Given the description of an element on the screen output the (x, y) to click on. 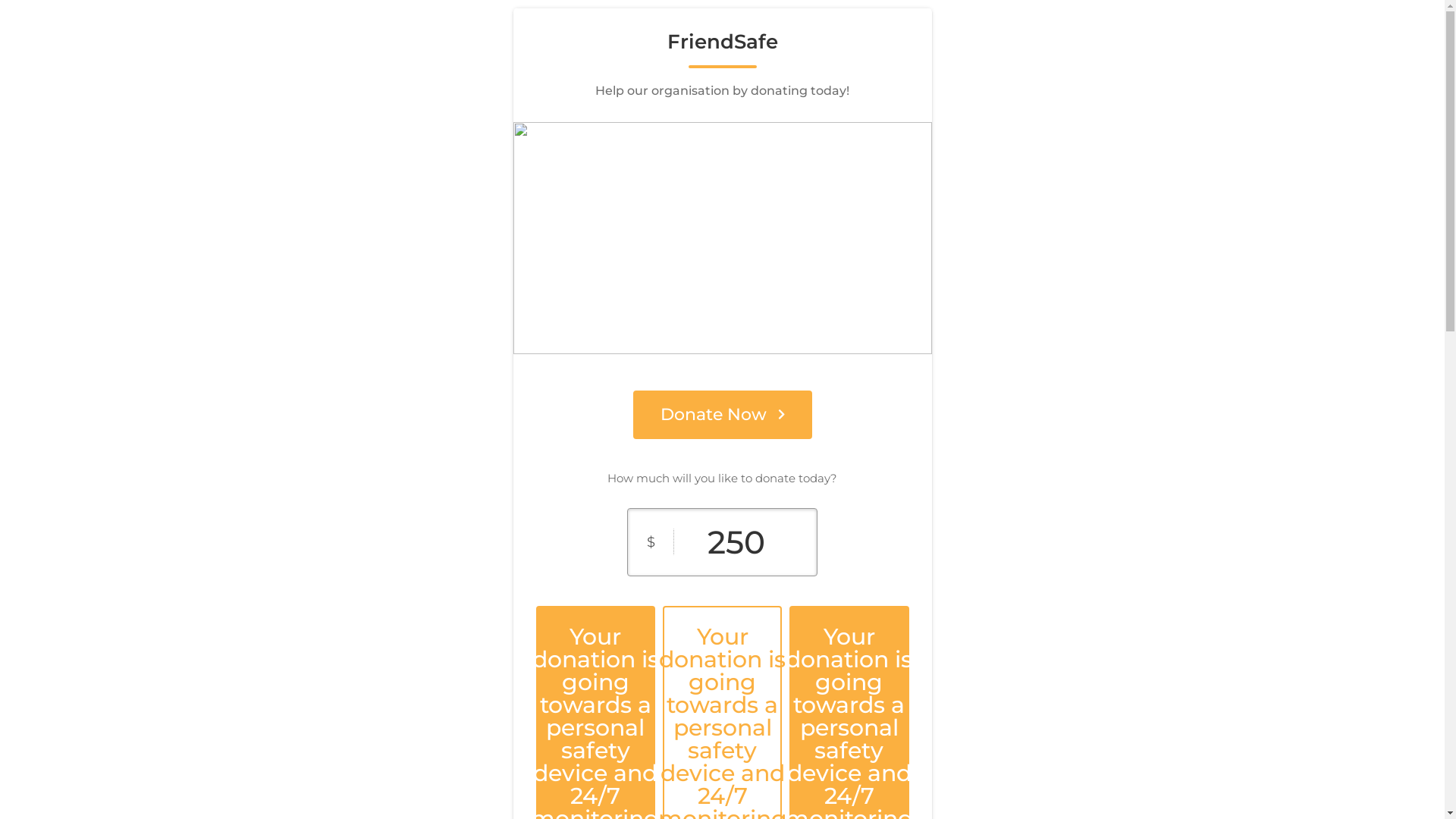
Donate Now Element type: text (721, 414)
